Given the description of an element on the screen output the (x, y) to click on. 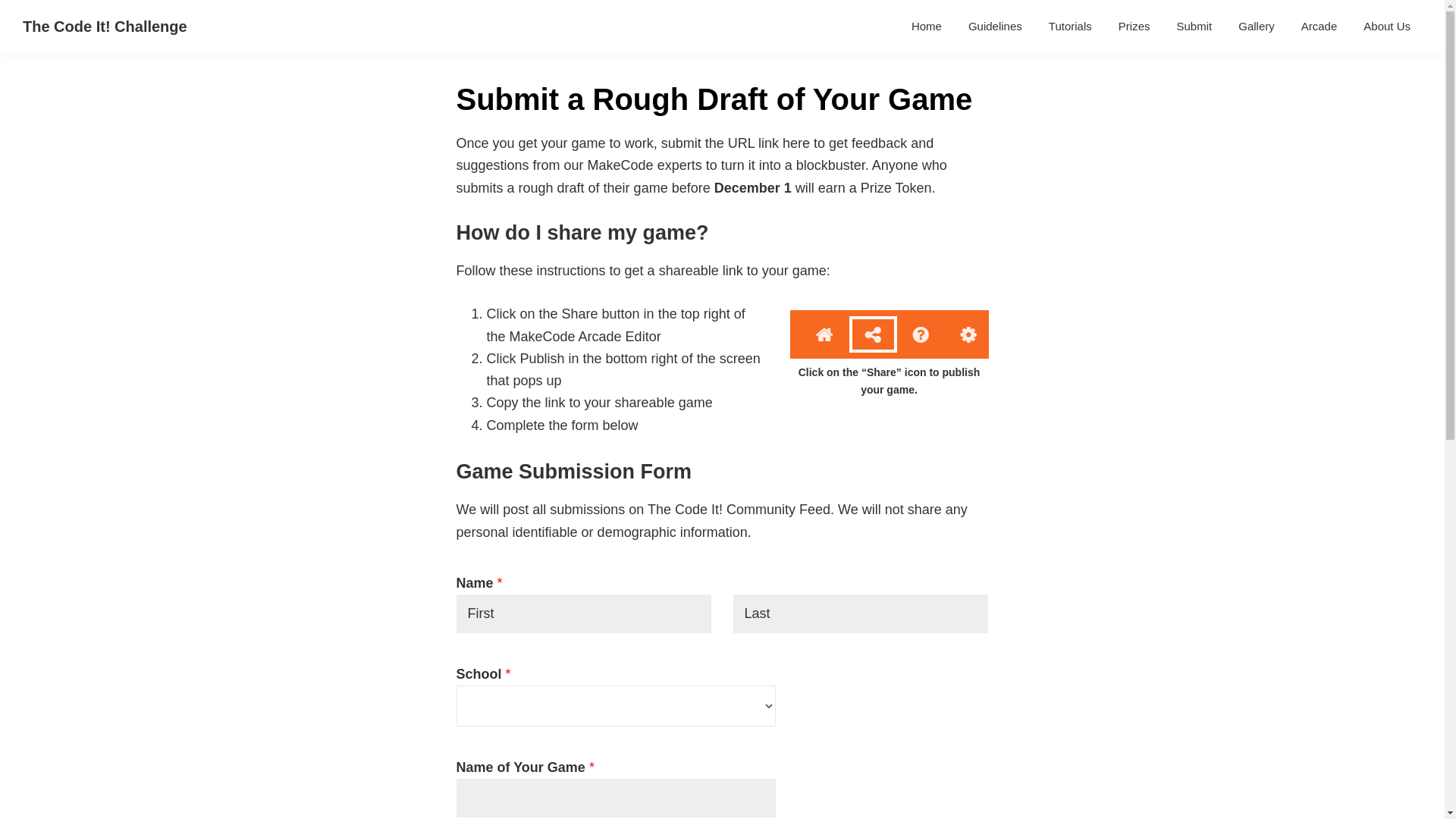
Guidelines (994, 25)
Tutorials (1069, 25)
Submit (1195, 25)
Arcade (1319, 25)
About Us (1387, 25)
Gallery (1256, 25)
The Code It! Challenge (105, 26)
Home (926, 25)
Prizes (1133, 25)
